Given the description of an element on the screen output the (x, y) to click on. 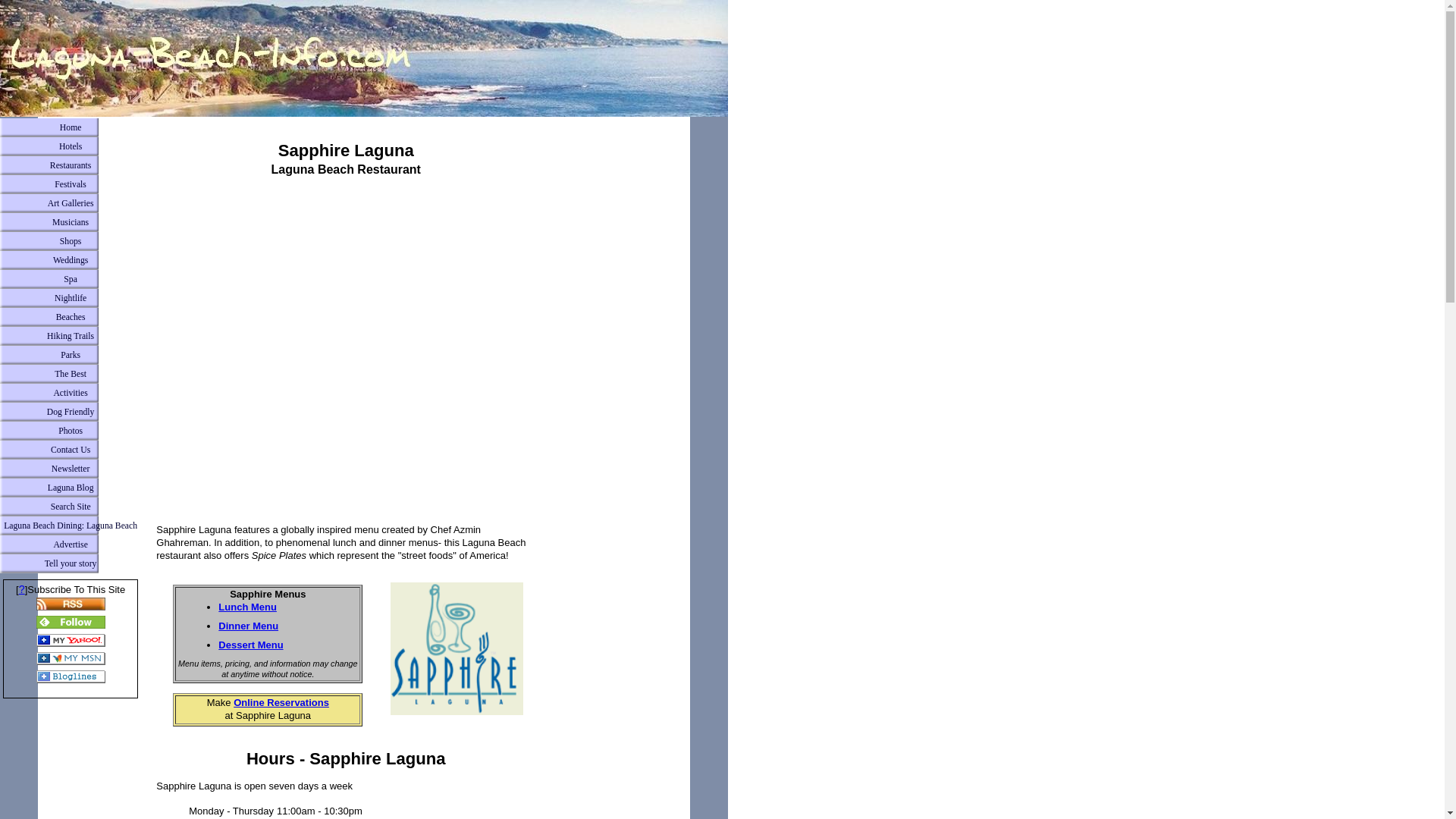
Newsletter (70, 468)
The Best (70, 374)
Photos (70, 430)
Spa (70, 279)
Advertise (70, 544)
Parks (70, 354)
Weddings (70, 260)
Dog Friendly (70, 411)
Contact Us (70, 449)
Sapphire Laguna Beach Restaurant Dessert Menu (250, 644)
Laguna Blog (70, 487)
Sapphire Laguna Beach Restaurant Lunch Menu (247, 606)
Dinner Menu (248, 625)
Hiking Trails (70, 335)
Sapphire Laguna Beach Restaurants (456, 648)
